Given the description of an element on the screen output the (x, y) to click on. 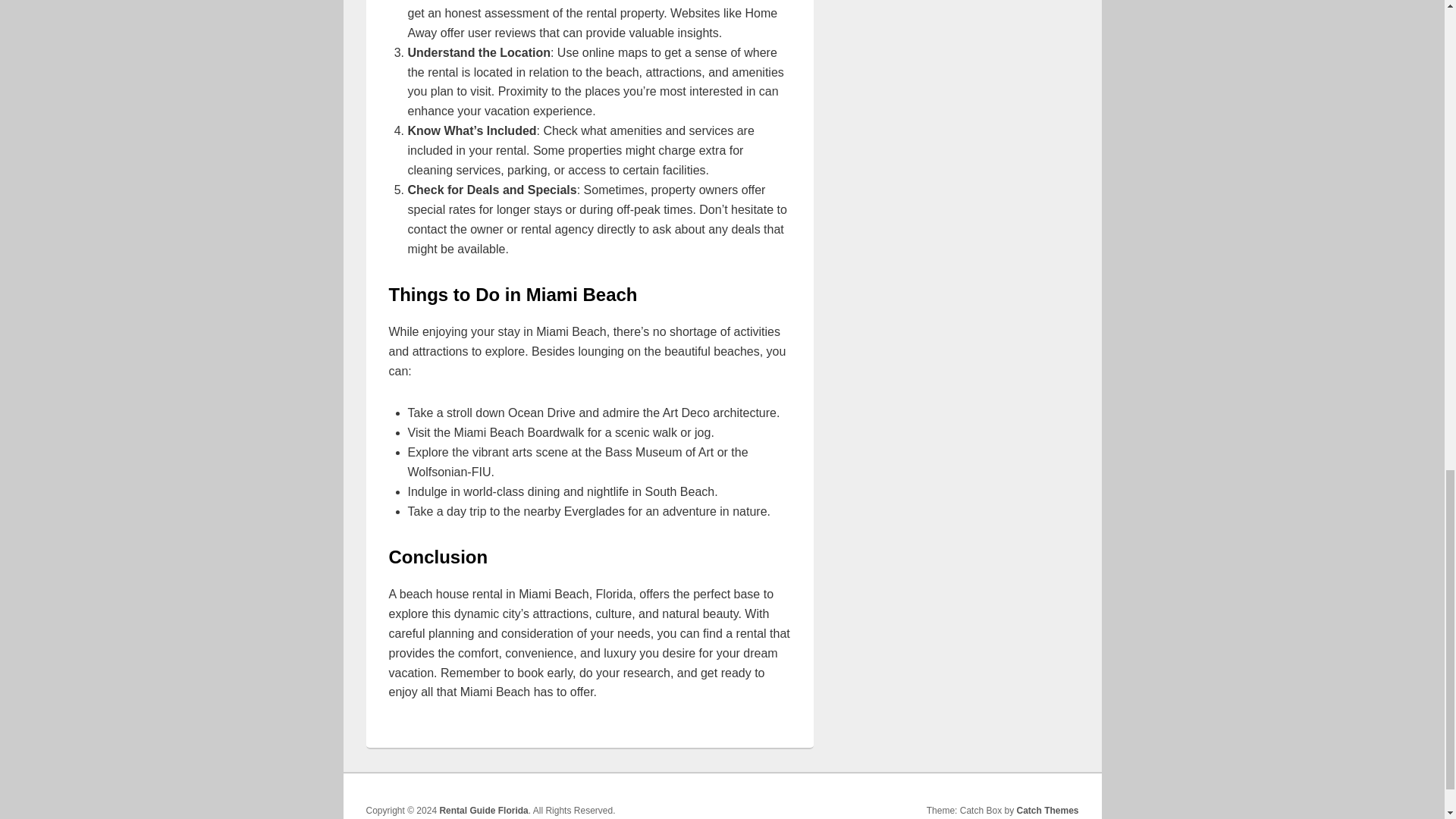
Catch Themes (1047, 810)
Catch Themes (1047, 810)
Rental Guide Florida (483, 810)
Rental Guide Florida (483, 810)
